Given the description of an element on the screen output the (x, y) to click on. 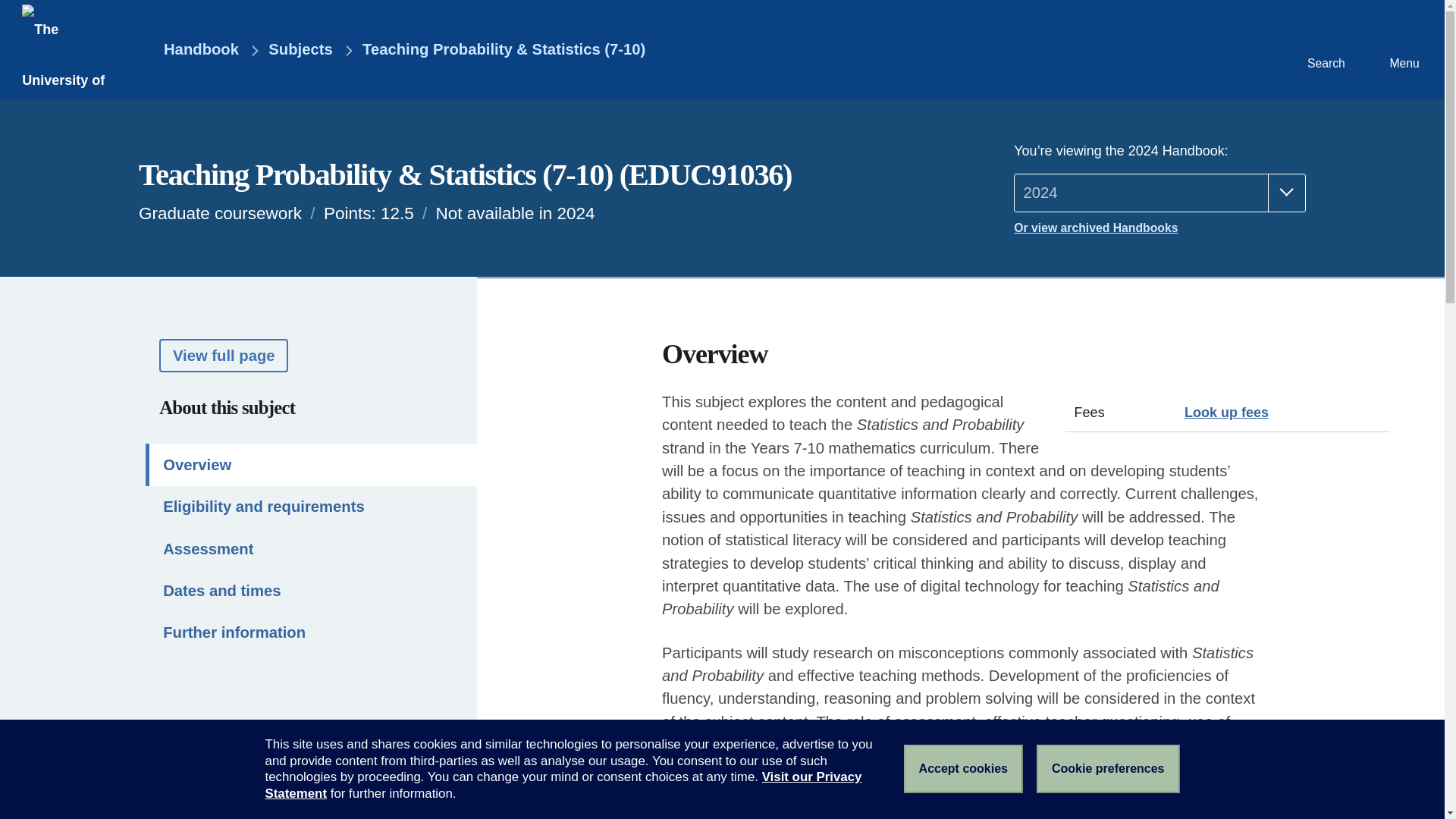
Further information (311, 632)
Or view archived Handbooks (1159, 228)
Look up fees (1226, 412)
Overview (311, 464)
Assessment (311, 548)
Dates and times (311, 589)
View full page (223, 355)
Handbook (189, 49)
Eligibility and requirements (311, 506)
Subjects (299, 49)
Search (1324, 49)
Search (1324, 49)
